Given the description of an element on the screen output the (x, y) to click on. 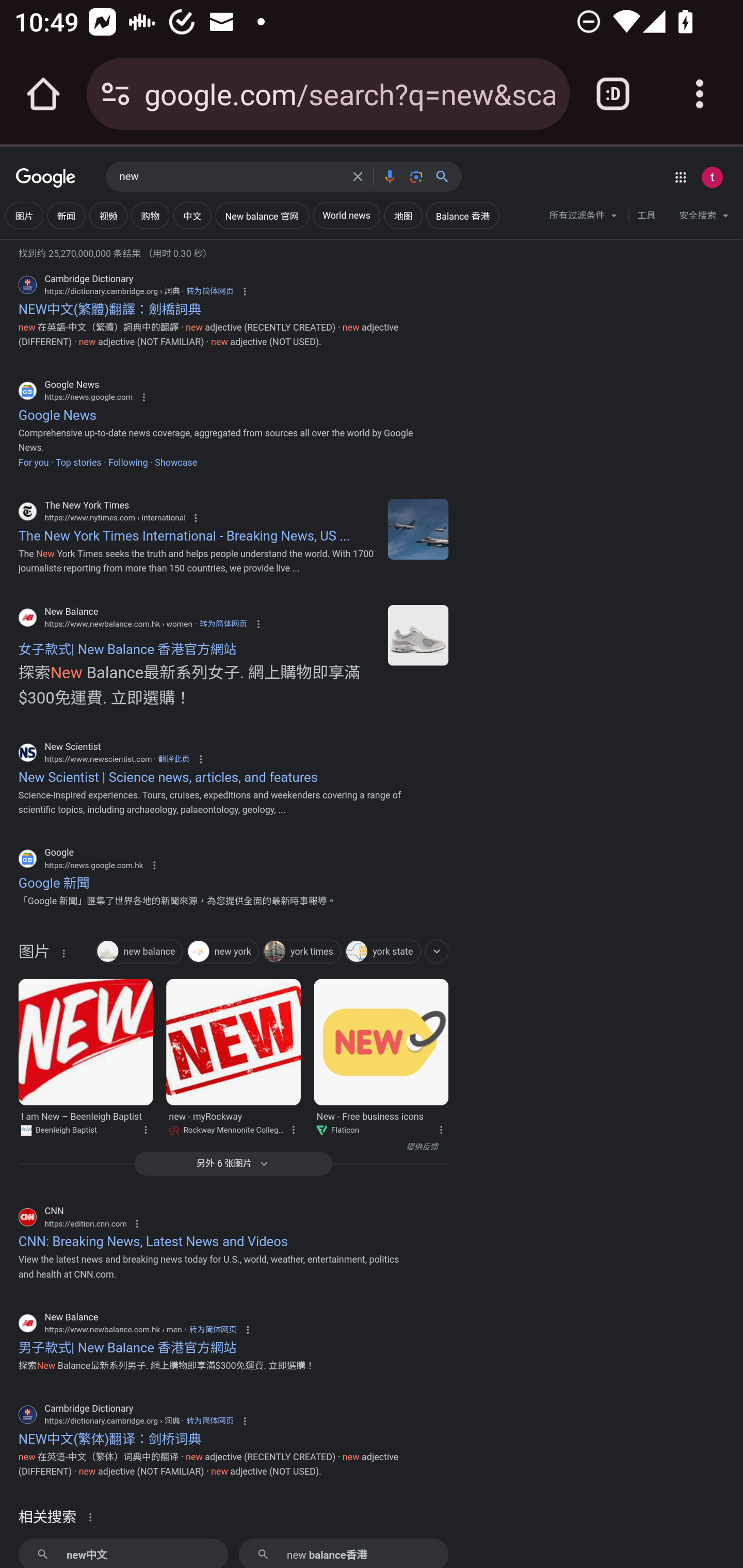
Open the home page (43, 93)
Connection is secure (115, 93)
Switch or close tabs (612, 93)
Customize and control Google Chrome (699, 93)
清除 (357, 176)
按语音搜索 (389, 176)
按图搜索 (415, 176)
搜索 (446, 176)
Google 应用 (680, 176)
Google 账号： test appium (testappium002@gmail.com) (712, 176)
Google (45, 178)
new (229, 177)
图片 (24, 215)
新闻 (65, 215)
视频 (107, 215)
购物 (149, 215)
添加“中文” 中文 (191, 215)
添加“New balance 官网” New balance 官网 (261, 215)
添加“World news” World news (346, 215)
地图 (403, 215)
添加“Balance 香港” Balance 香港 (462, 215)
所有过滤条件 (583, 217)
工具 (646, 215)
安全搜索 (703, 217)
转为简体网页 (209, 291)
For you (33, 461)
Top stories (77, 461)
Following (127, 461)
Showcase (175, 461)
international (417, 528)
women (417, 635)
转为简体网页 (223, 623)
翻译此页 (173, 758)
图片 (33, 954)
new balance (139, 951)
new york (222, 951)
york times (301, 951)
york state (382, 951)
按功能过滤 (436, 950)
关于这条结果的详细信息 (62, 952)
I am New – Beenleigh Baptist (85, 1041)
new - myRockway (233, 1041)
New - Free business icons (380, 1041)
关于这条结果的详细信息 (145, 1128)
关于这条结果的详细信息 (292, 1128)
关于这条结果的详细信息 (440, 1128)
提供反馈 (227, 1146)
另外 6 张图片 (232, 1163)
转为简体网页 (212, 1329)
转为简体网页 (209, 1420)
关于这条结果的详细信息 (93, 1516)
new中文 (122, 1553)
new balance香港 (343, 1553)
